Given the description of an element on the screen output the (x, y) to click on. 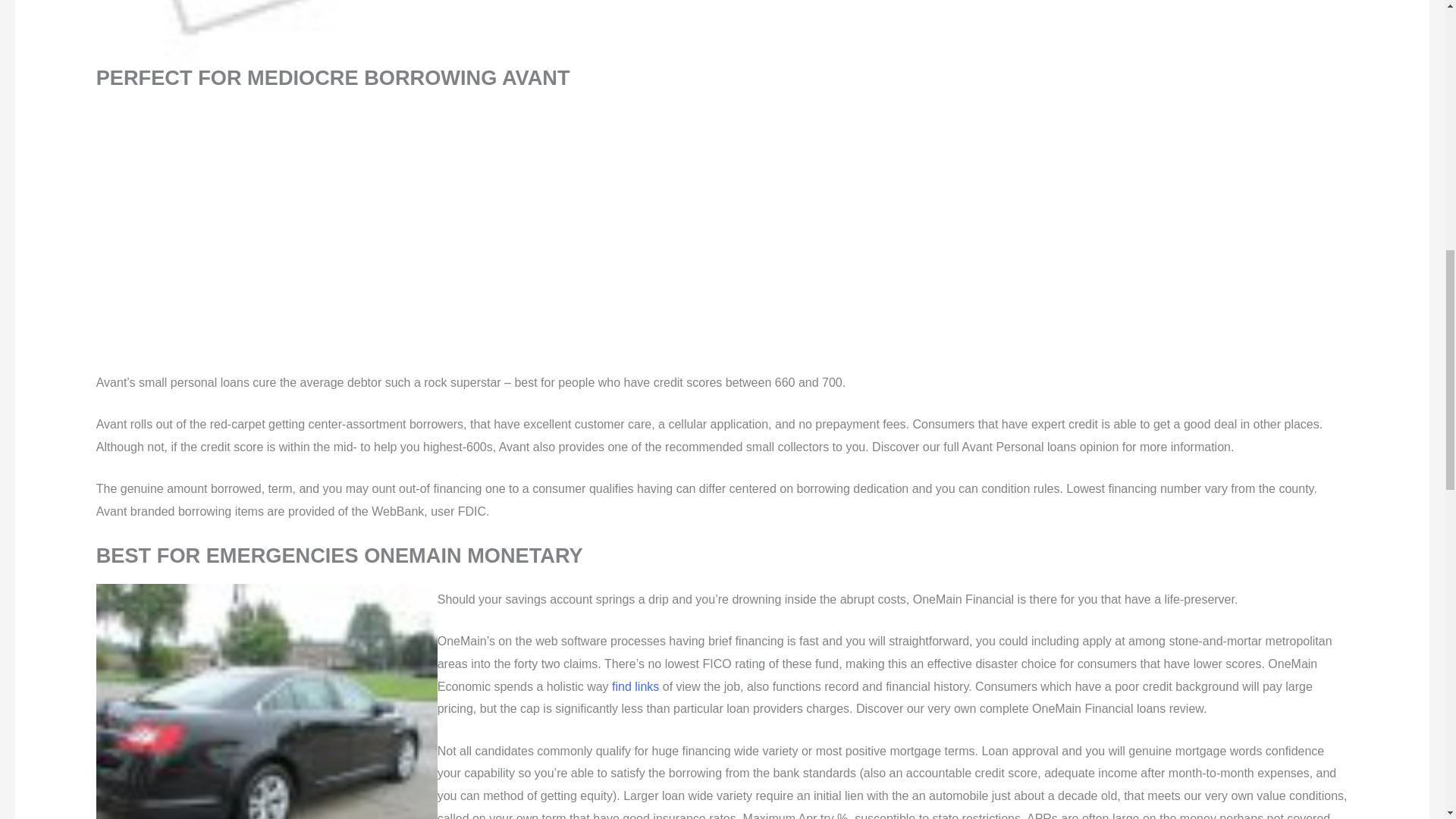
find links (635, 686)
